Given the description of an element on the screen output the (x, y) to click on. 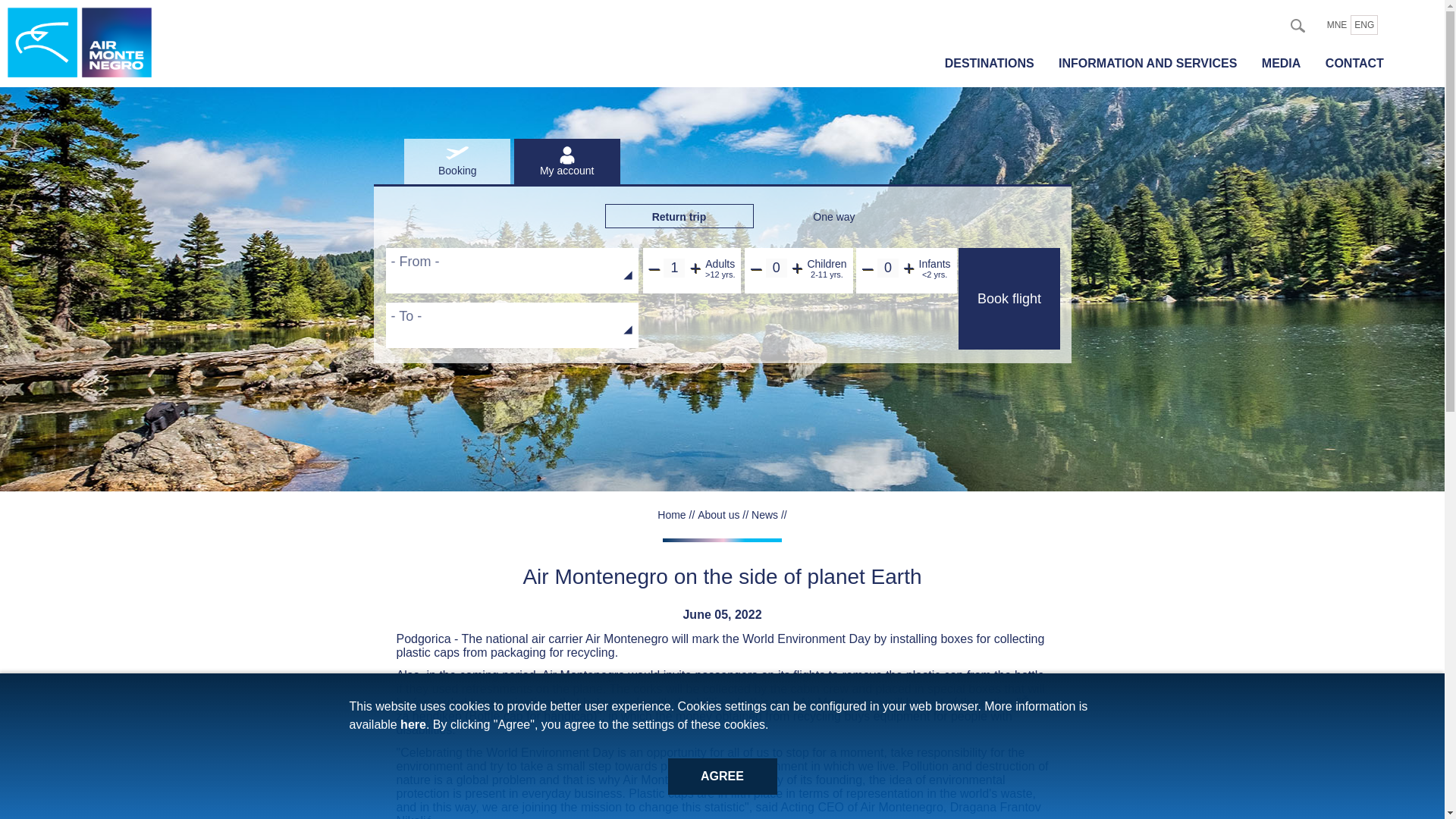
1 (673, 267)
DESTINATIONS (995, 63)
MNE (1337, 25)
MEDIA (1288, 63)
CONTACT (1361, 63)
Book flight (1008, 298)
INFORMATION AND SERVICES (1153, 63)
0 (887, 267)
Book flight (1008, 298)
0 (776, 267)
